Given the description of an element on the screen output the (x, y) to click on. 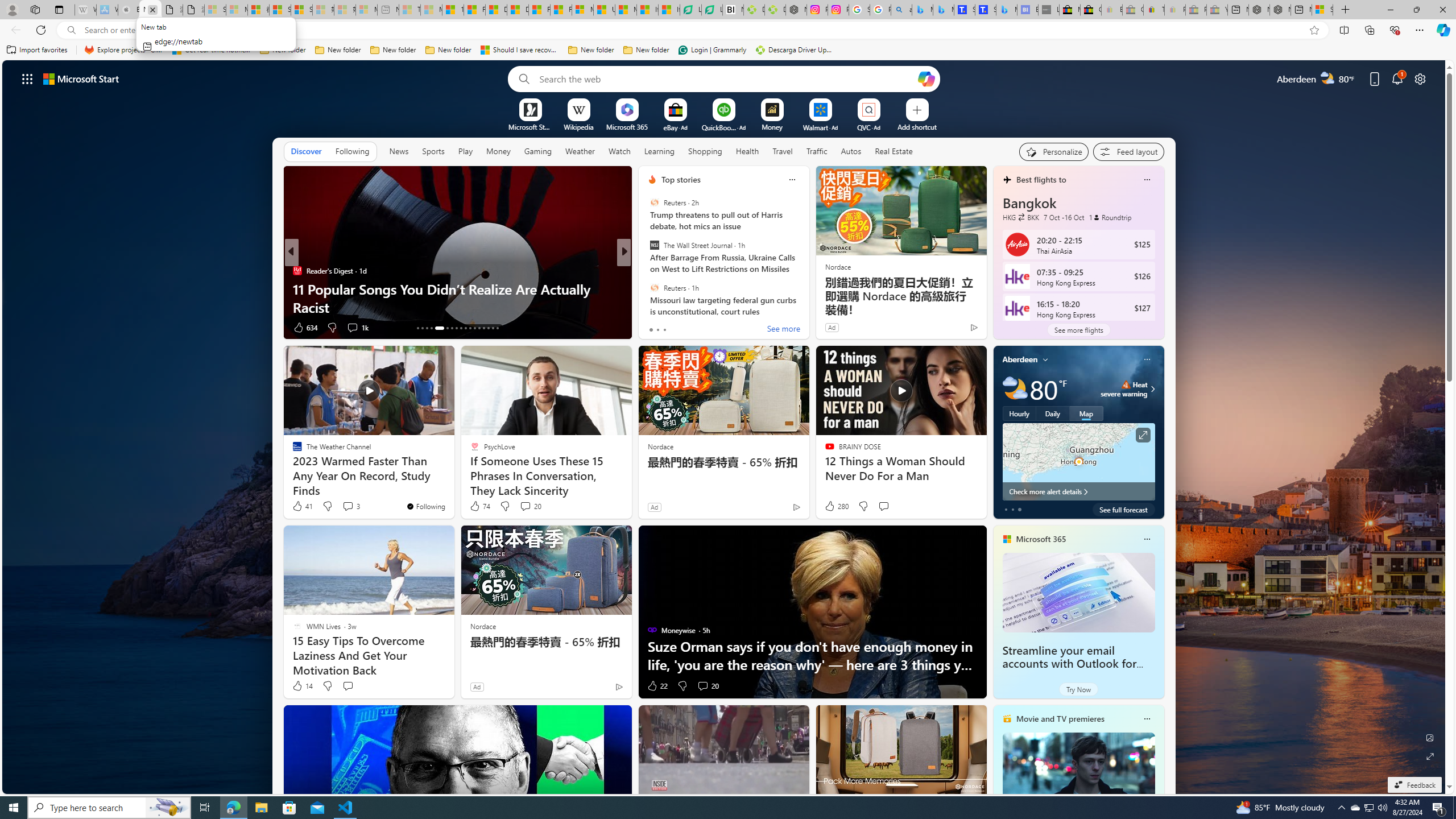
20 Like (652, 327)
Search icon (70, 29)
Buy iPad - Apple - Sleeping (128, 9)
The Weather Channel (647, 288)
Favorites bar (728, 49)
37 Like (652, 327)
1 Like (651, 327)
Microsoft start (81, 78)
Totally The Bomb (647, 288)
AutomationID: tab-24 (474, 328)
